Given the description of an element on the screen output the (x, y) to click on. 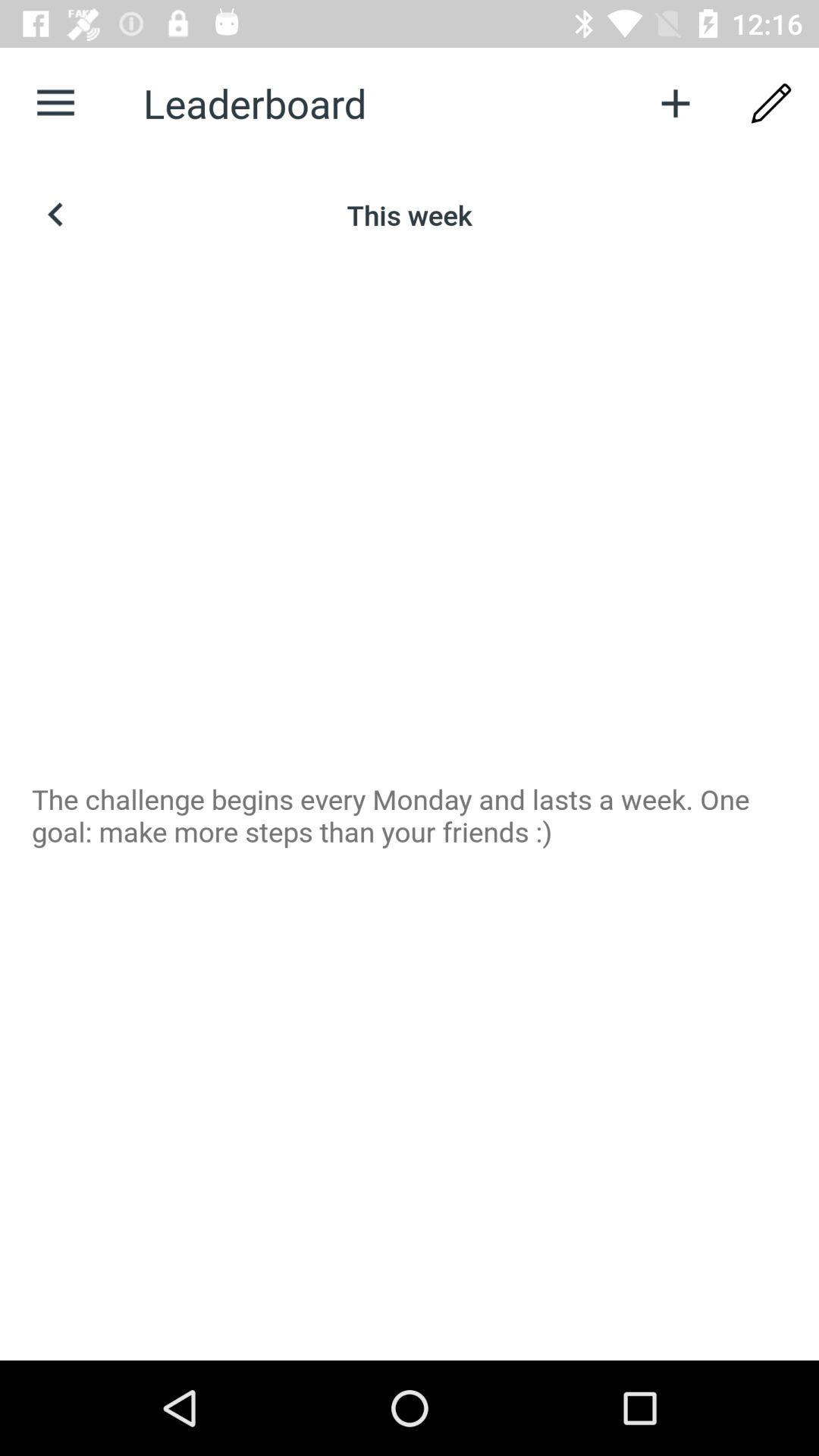
launch the item to the left of the this week icon (55, 214)
